Given the description of an element on the screen output the (x, y) to click on. 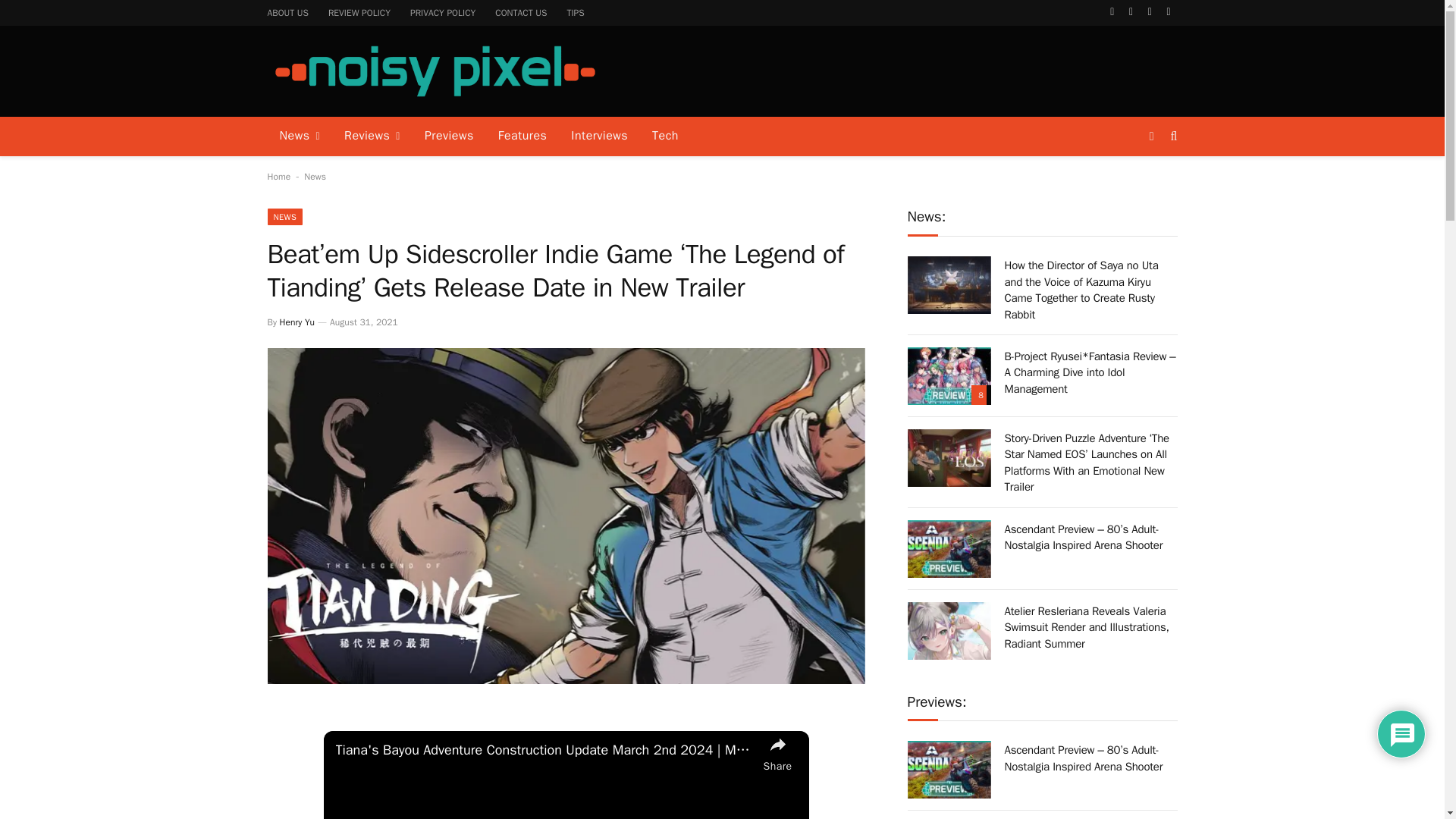
PRIVACY POLICY (442, 12)
Home (277, 176)
ABOUT US (287, 12)
Tech (665, 136)
CONTACT US (520, 12)
REVIEW POLICY (359, 12)
Features (522, 136)
TIPS (575, 12)
NEWS (284, 216)
Posts by Henry Yu (297, 322)
News (298, 136)
Switch to Dark Design - easier on eyes. (1151, 136)
Reviews (371, 136)
Henry Yu (297, 322)
Interviews (599, 136)
